Given the description of an element on the screen output the (x, y) to click on. 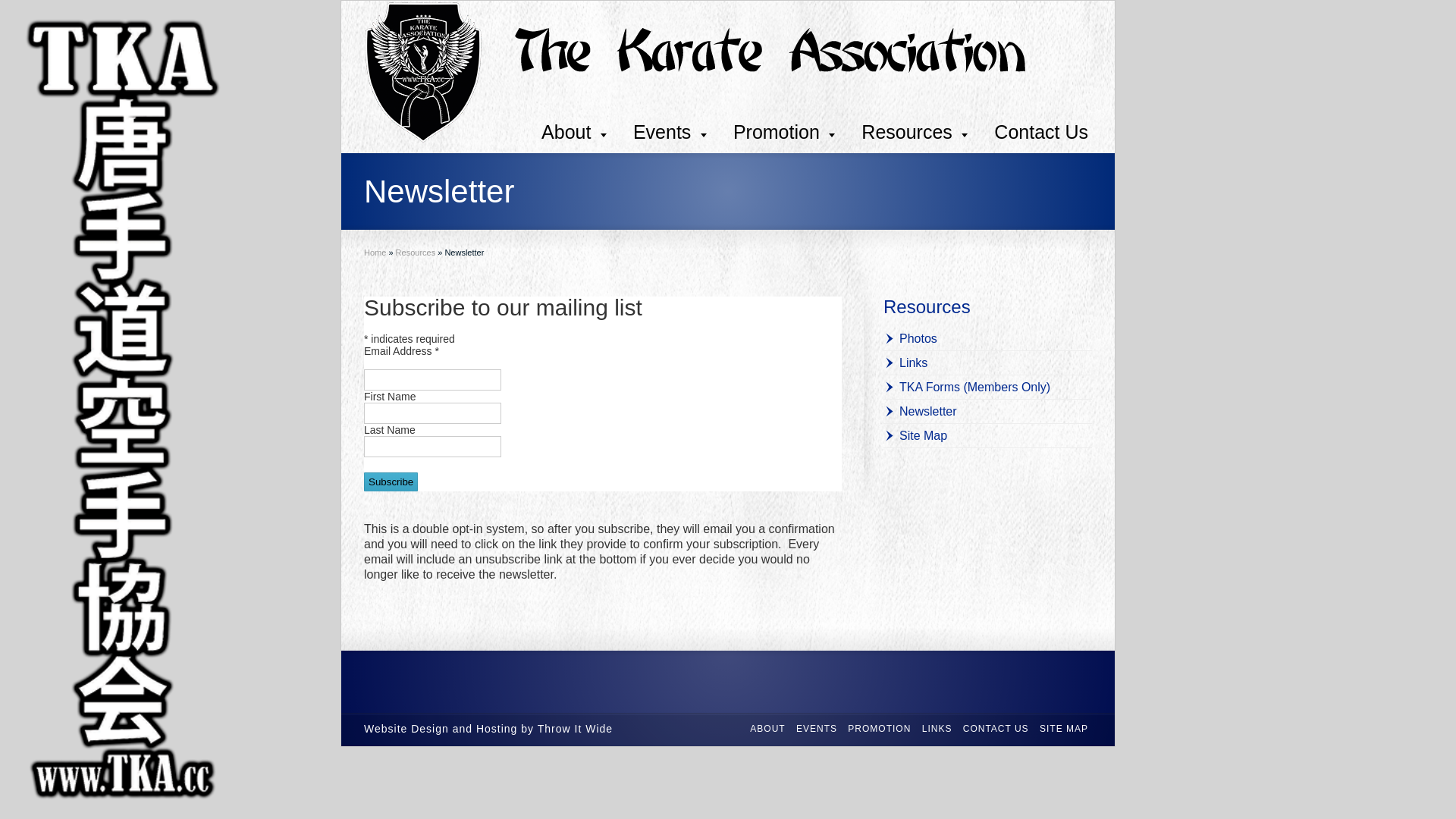
About Element type: text (574, 132)
Home Element type: text (374, 252)
Throw It Wide Element type: text (574, 728)
Photos Element type: text (910, 338)
Site Map Element type: text (915, 435)
Contact Us Element type: text (1040, 132)
EVENTS Element type: text (816, 728)
Events Element type: text (669, 132)
Subscribe Element type: text (390, 481)
Resources Element type: text (926, 306)
CONTACT US Element type: text (995, 728)
TKA Forms (Members Only) Element type: text (966, 386)
PROMOTION Element type: text (879, 728)
Resources Element type: text (415, 252)
Promotion Element type: text (783, 132)
ABOUT Element type: text (767, 728)
Links Element type: text (905, 362)
LINKS Element type: text (937, 728)
SITE MAP Element type: text (1063, 728)
Newsletter Element type: text (920, 410)
Resources Element type: text (914, 132)
